Given the description of an element on the screen output the (x, y) to click on. 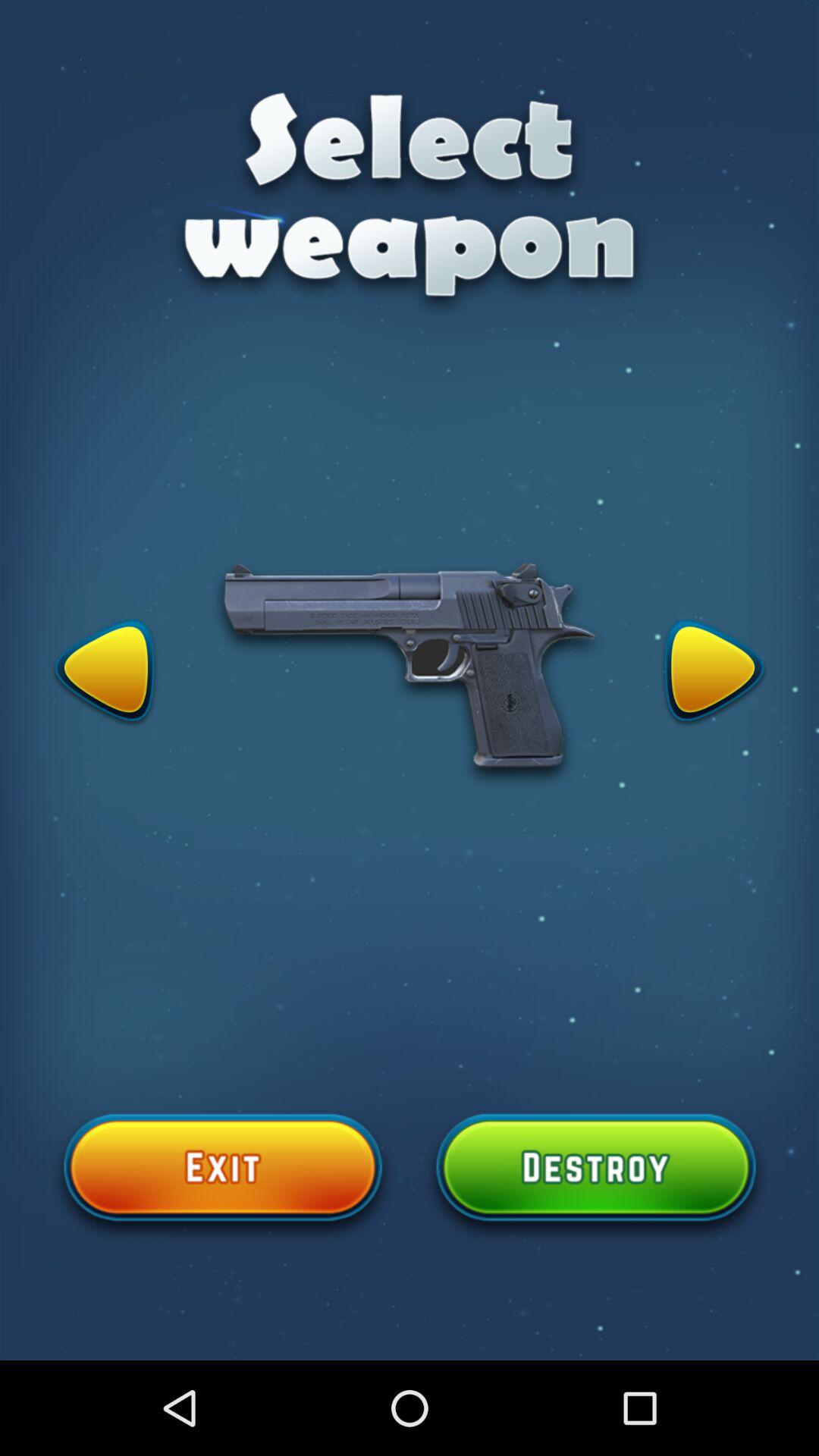
switch weapon (714, 673)
